Given the description of an element on the screen output the (x, y) to click on. 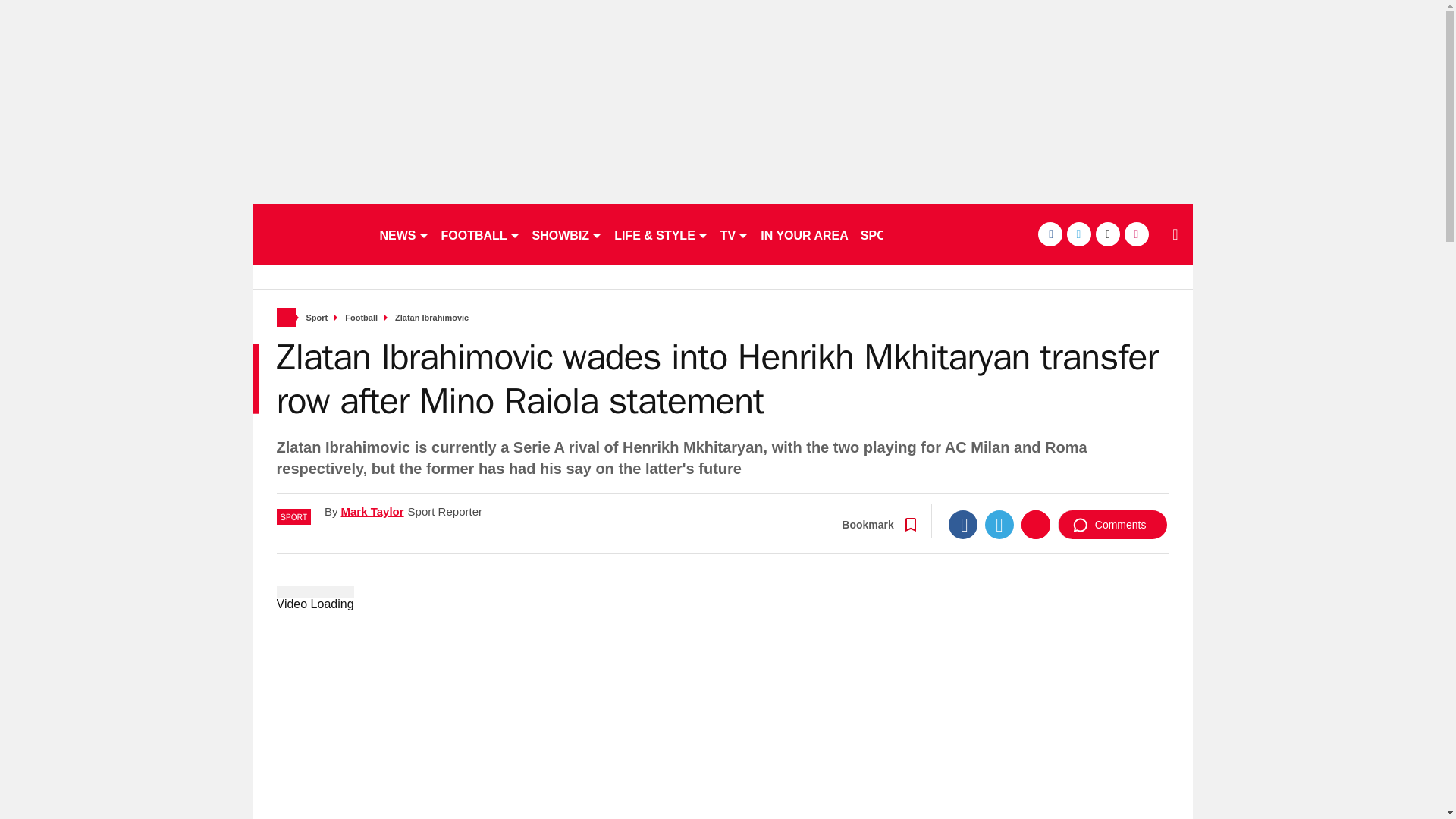
twitter (1077, 233)
SHOWBIZ (566, 233)
Comments (1112, 524)
instagram (1136, 233)
dailystar (308, 233)
Twitter (999, 524)
Facebook (962, 524)
tiktok (1106, 233)
facebook (1048, 233)
FOOTBALL (480, 233)
